Given the description of an element on the screen output the (x, y) to click on. 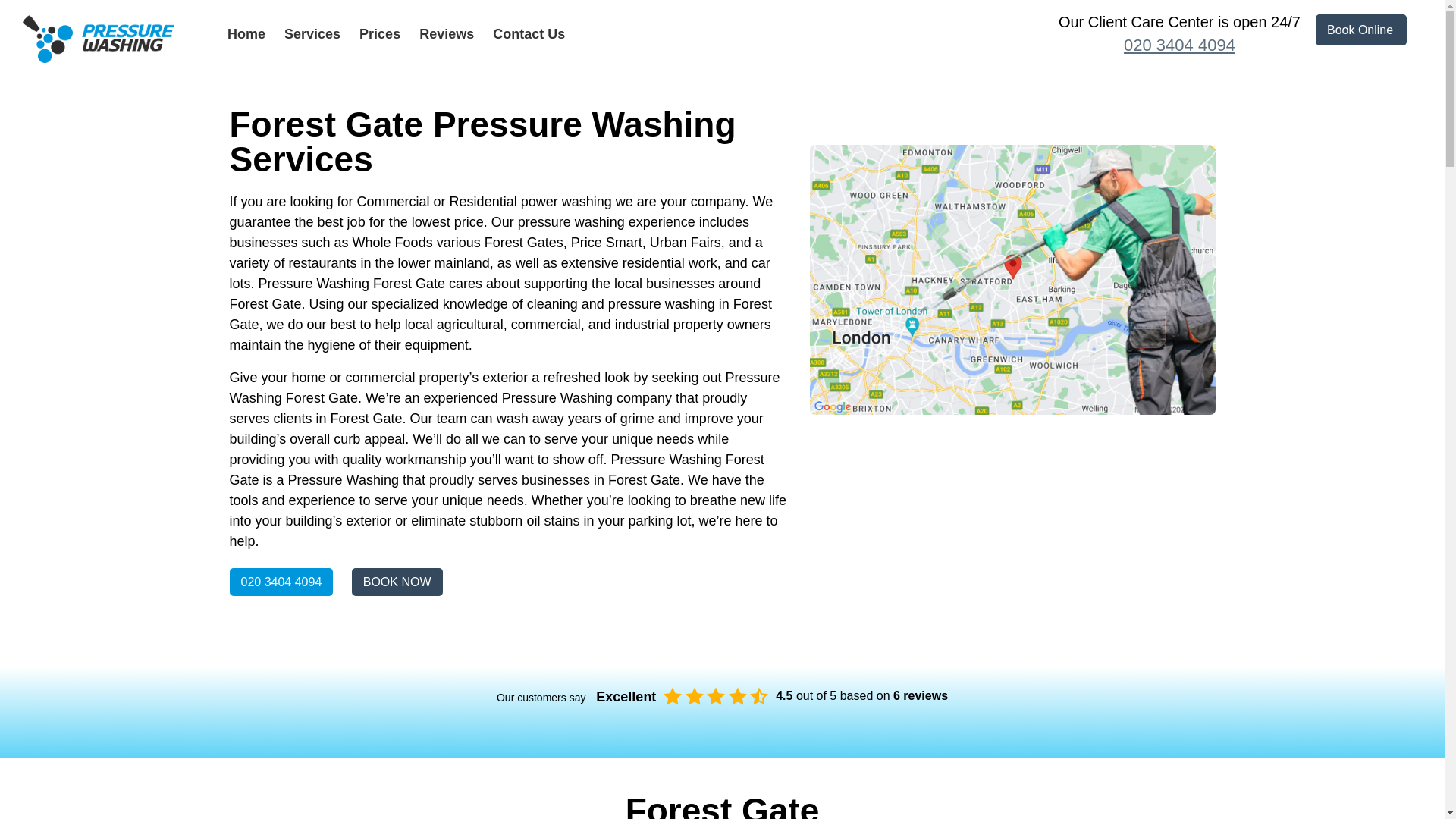
Contact Us (528, 33)
Services (311, 33)
BOOK NOW (397, 582)
Prices (379, 33)
Home (245, 33)
020 3404 4094 (1179, 45)
Book Online (1361, 29)
020 3404 4094 (280, 582)
Reviews (446, 33)
